Given the description of an element on the screen output the (x, y) to click on. 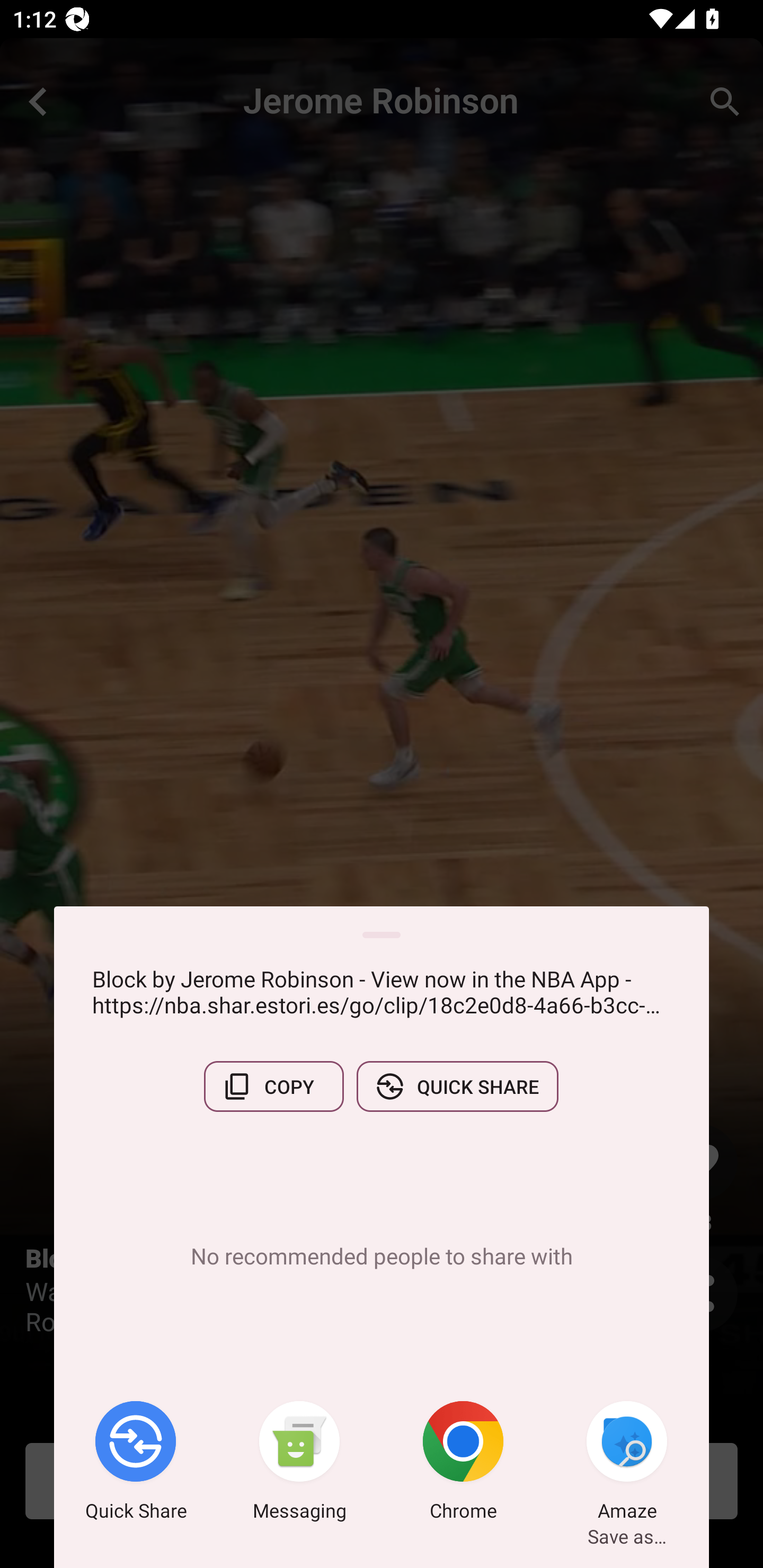
COPY (273, 1086)
QUICK SHARE (457, 1086)
Quick Share (135, 1463)
Messaging (299, 1463)
Chrome (463, 1463)
Amaze Save as… (626, 1463)
